Given the description of an element on the screen output the (x, y) to click on. 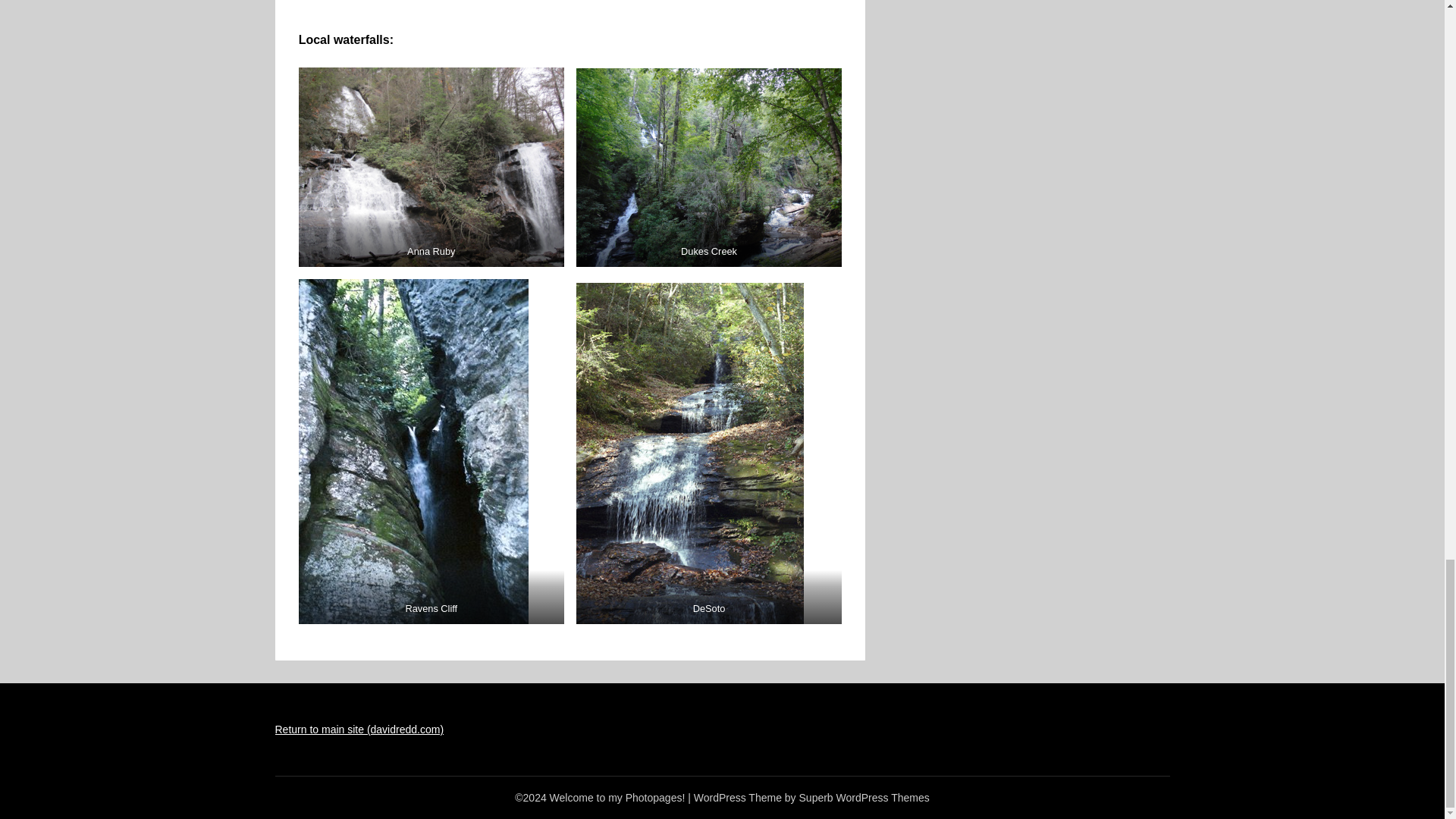
Superb WordPress Themes (864, 797)
